Given the description of an element on the screen output the (x, y) to click on. 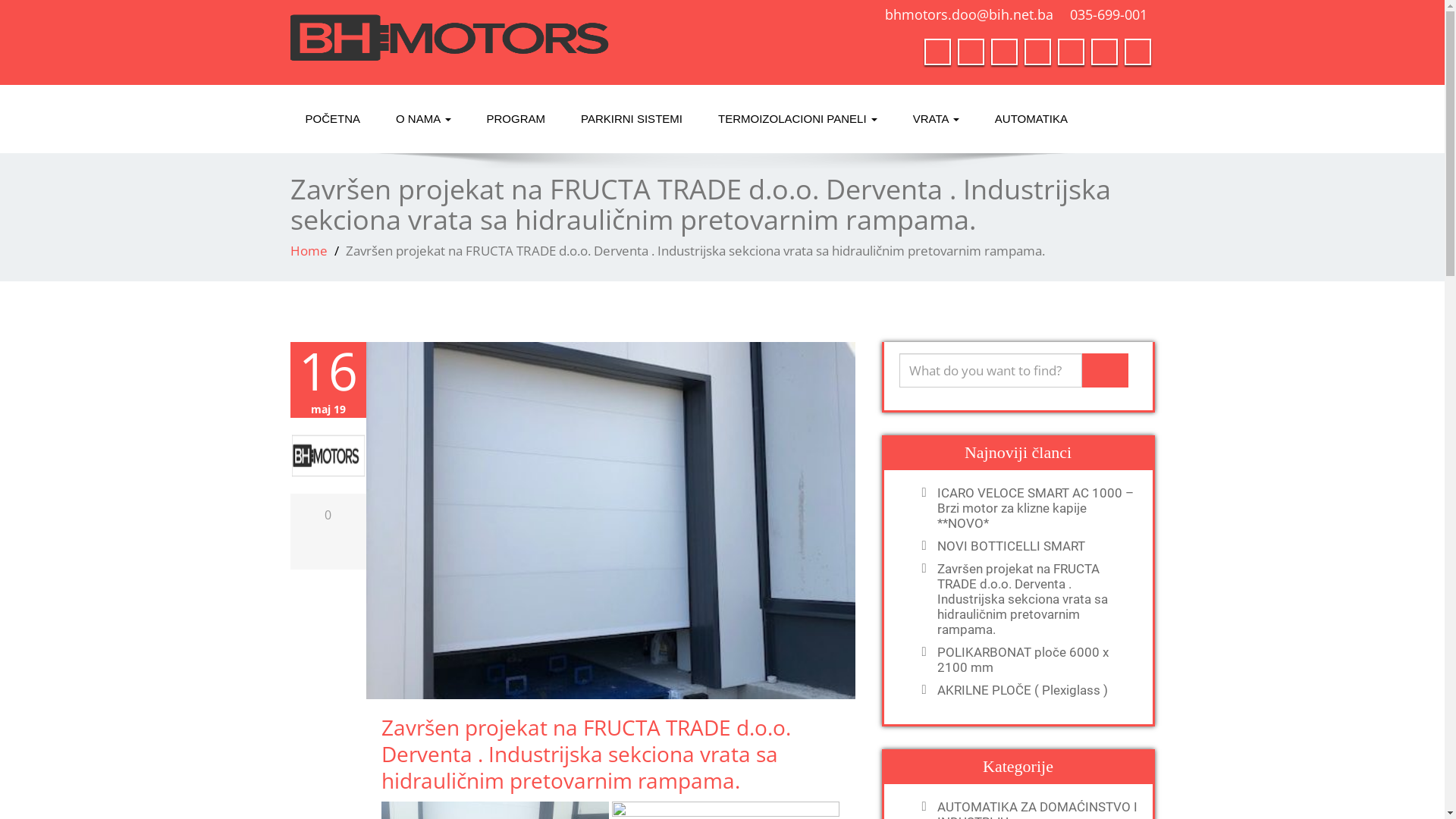
PROGRAM Element type: text (516, 118)
O NAMA Element type: text (423, 118)
035-699-001 Element type: text (1107, 14)
PARKIRNI SISTEMI Element type: text (631, 118)
NOVI BOTTICELLI SMART Element type: text (1033, 545)
bhmotors.doo@bih.net.ba Element type: text (968, 14)
0 Element type: text (327, 514)
AUTOMATIKA Element type: text (1030, 118)
VRATA Element type: text (935, 118)
Home Element type: text (307, 250)
TERMOIZOLACIONI PANELI Element type: text (797, 118)
BH MOTORS d.o.o. Element type: hover (499, 37)
